Given the description of an element on the screen output the (x, y) to click on. 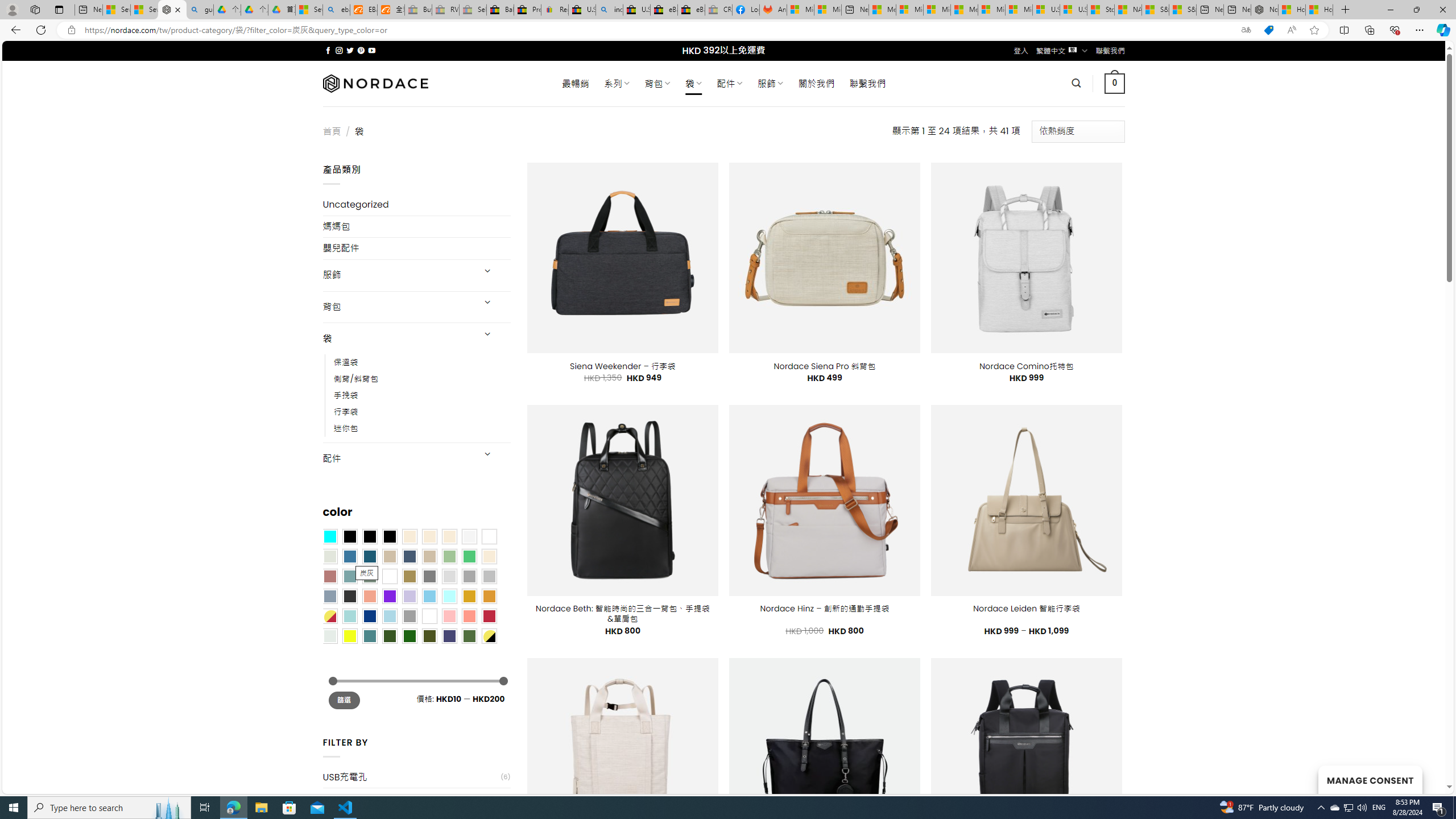
guge yunpan - Search (200, 9)
Follow on YouTube (371, 50)
